Given the description of an element on the screen output the (x, y) to click on. 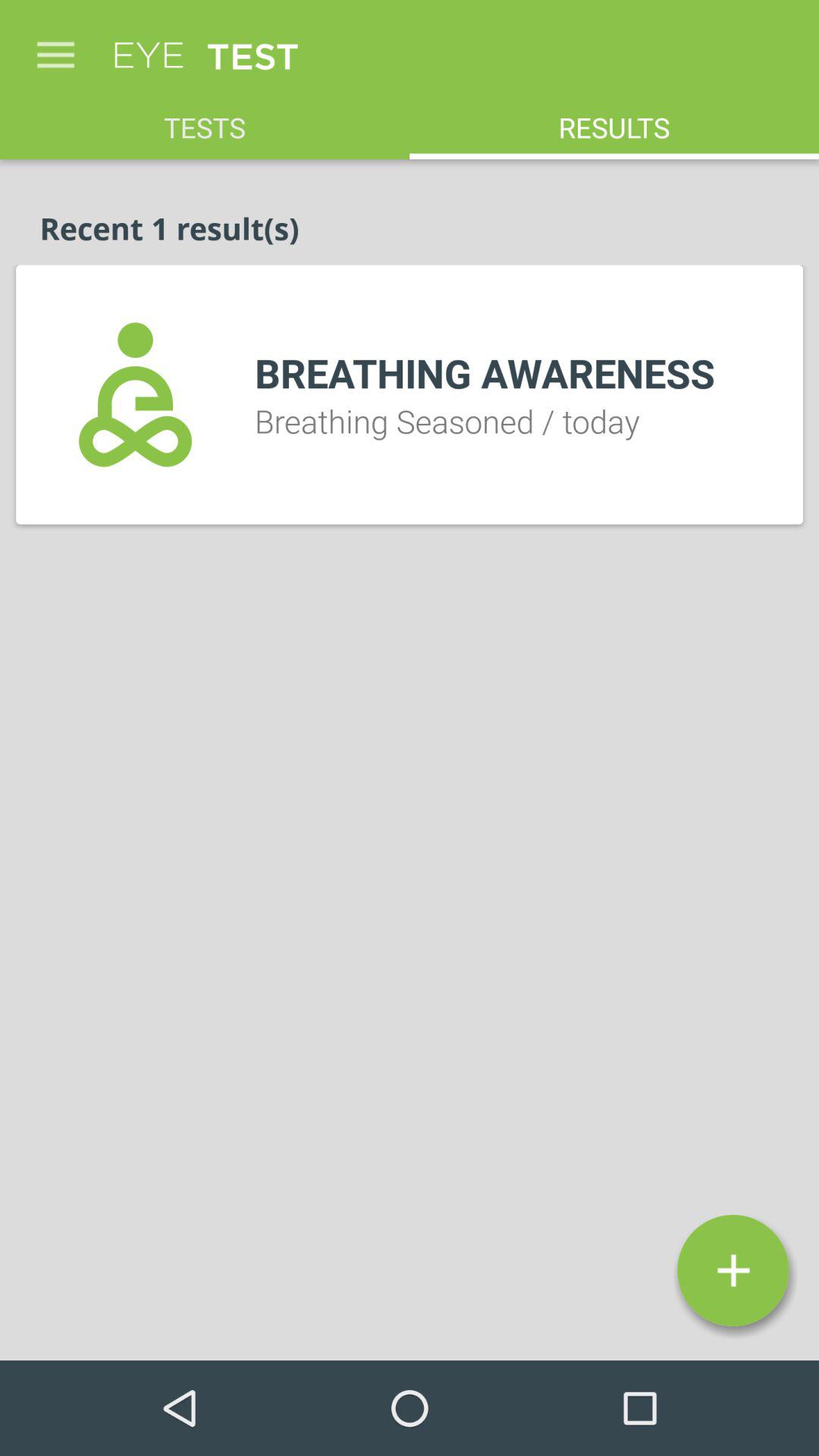
turn on the item to the right of tests item (614, 119)
